Given the description of an element on the screen output the (x, y) to click on. 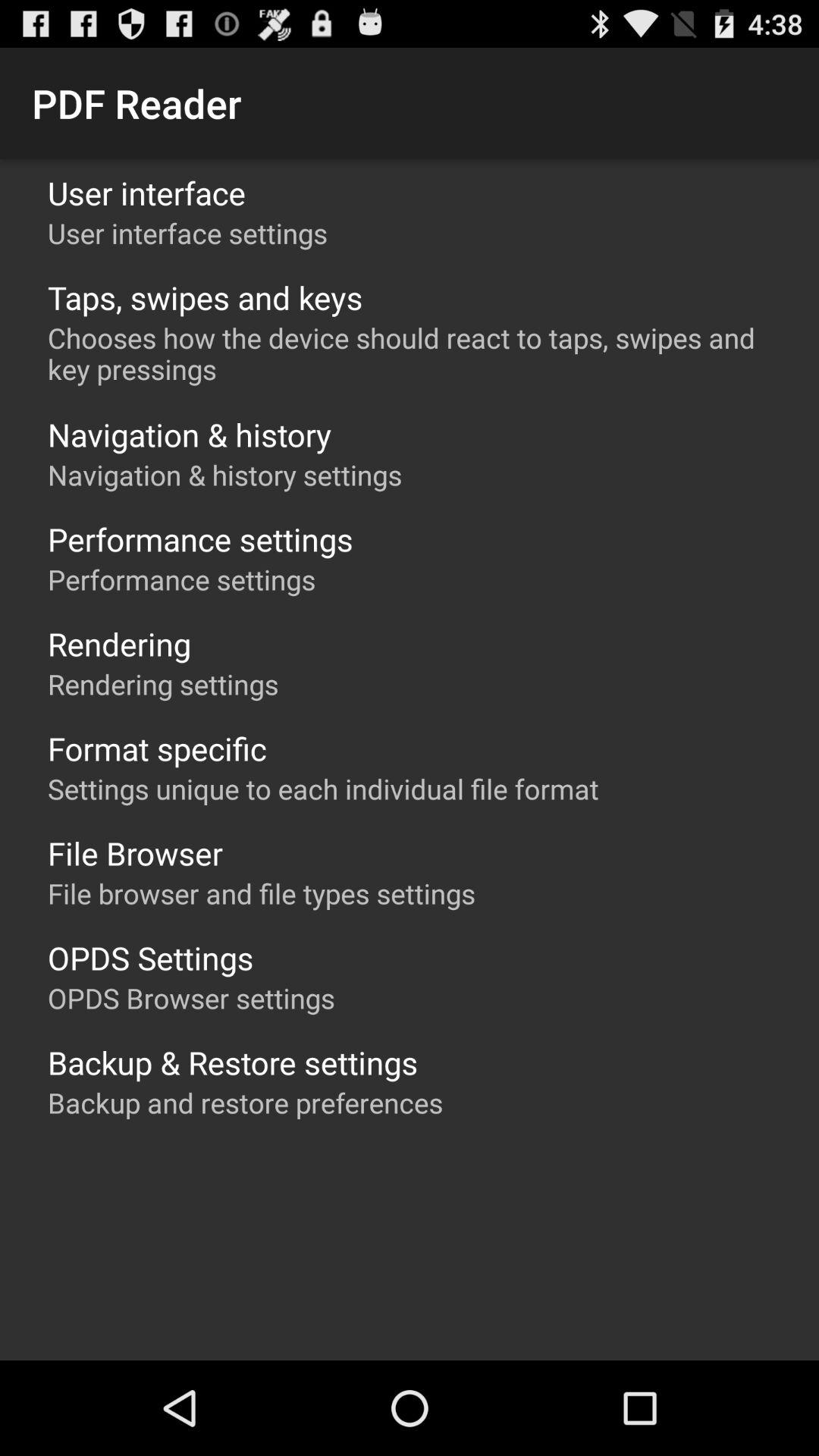
tap the app below the rendering (162, 683)
